Given the description of an element on the screen output the (x, y) to click on. 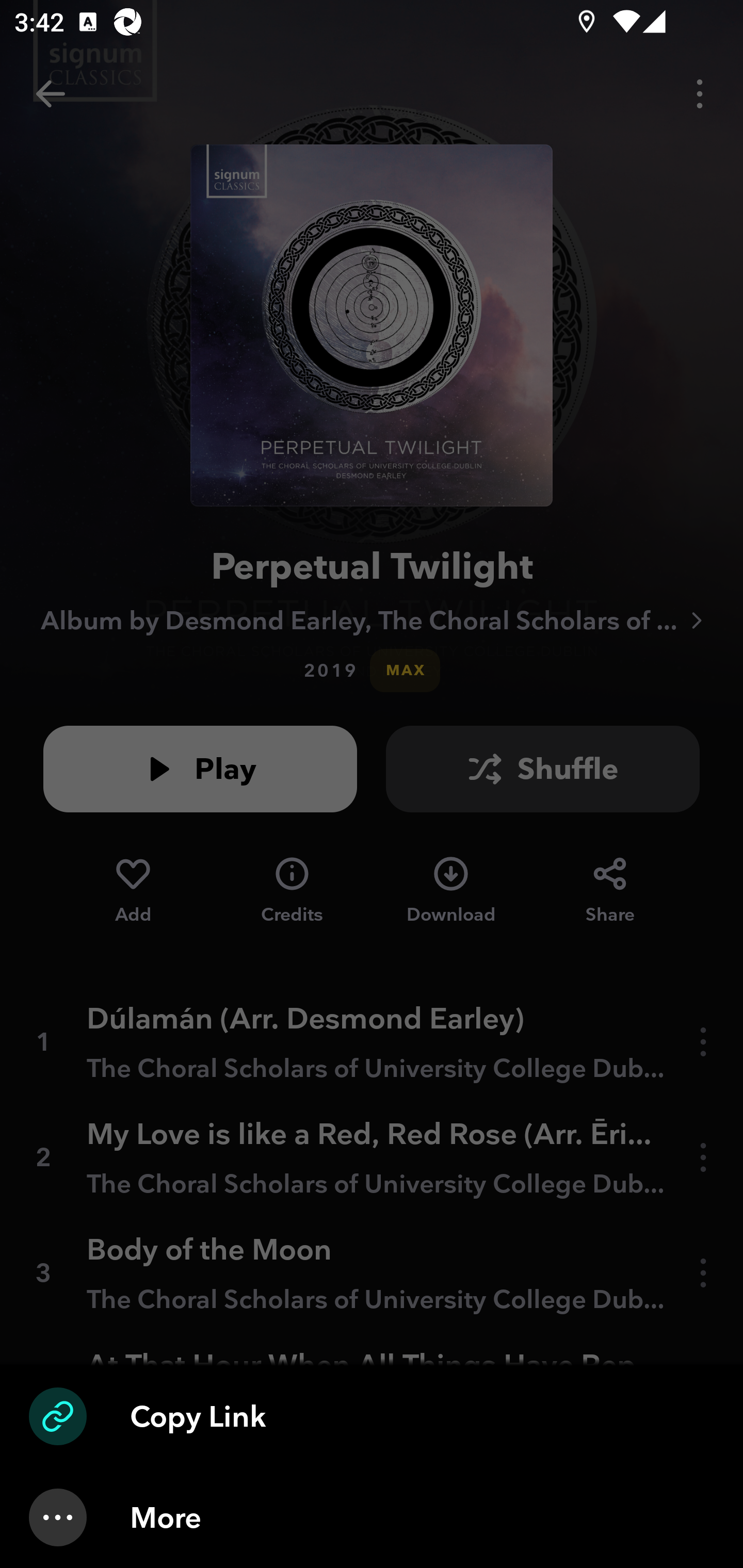
Copy Link (371, 1416)
More (371, 1517)
